Given the description of an element on the screen output the (x, y) to click on. 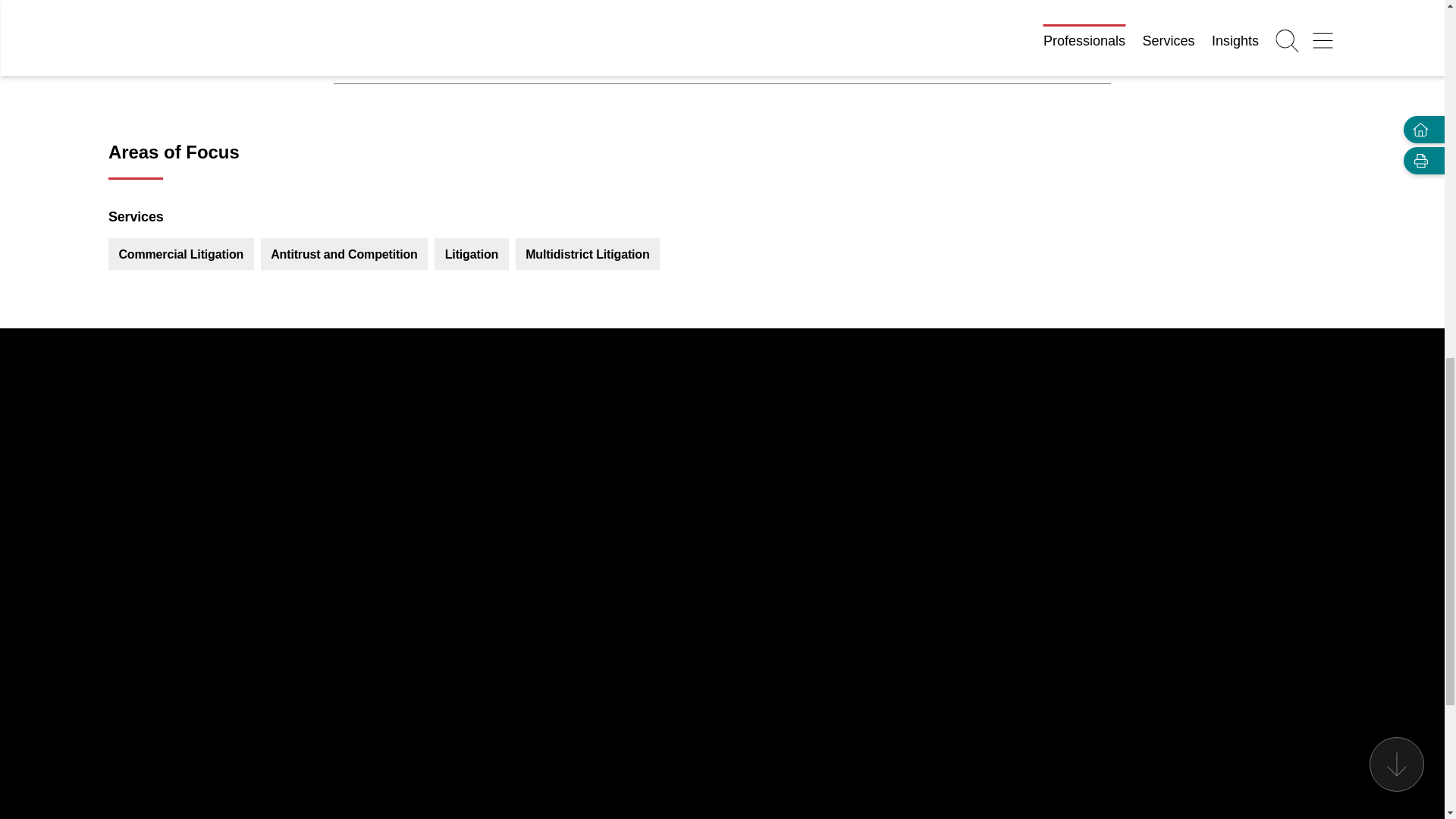
Credentials (722, 12)
Antitrust and Competition (343, 253)
Credentials (722, 18)
Community and Pro Bono (722, 58)
Community and Pro Bono (722, 60)
Commercial Litigation (180, 253)
Litigation (471, 253)
Multidistrict Litigation (587, 253)
